Given the description of an element on the screen output the (x, y) to click on. 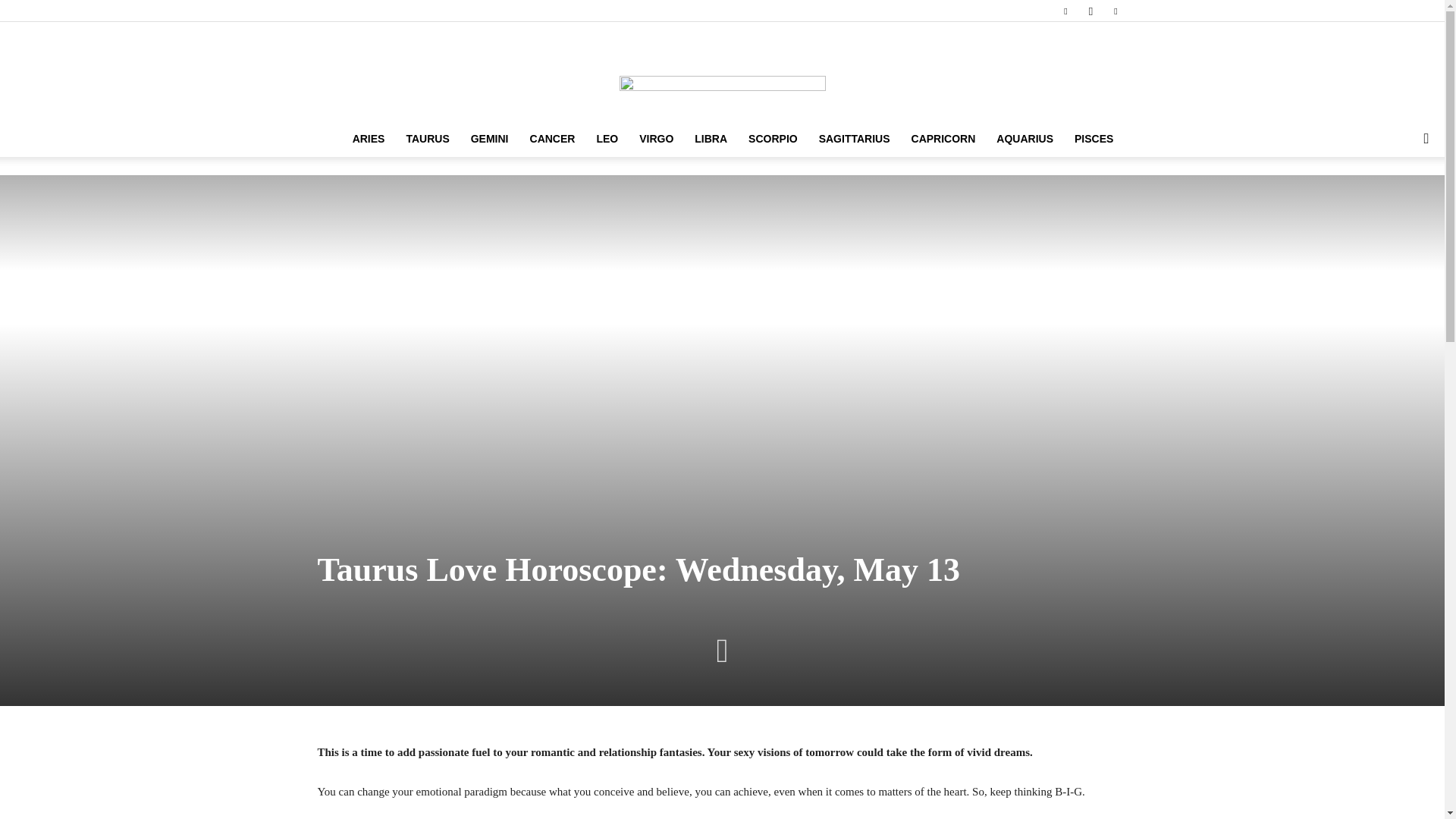
Pinterest (1114, 10)
Instagram (1090, 10)
Facebook (1065, 10)
